Given the description of an element on the screen output the (x, y) to click on. 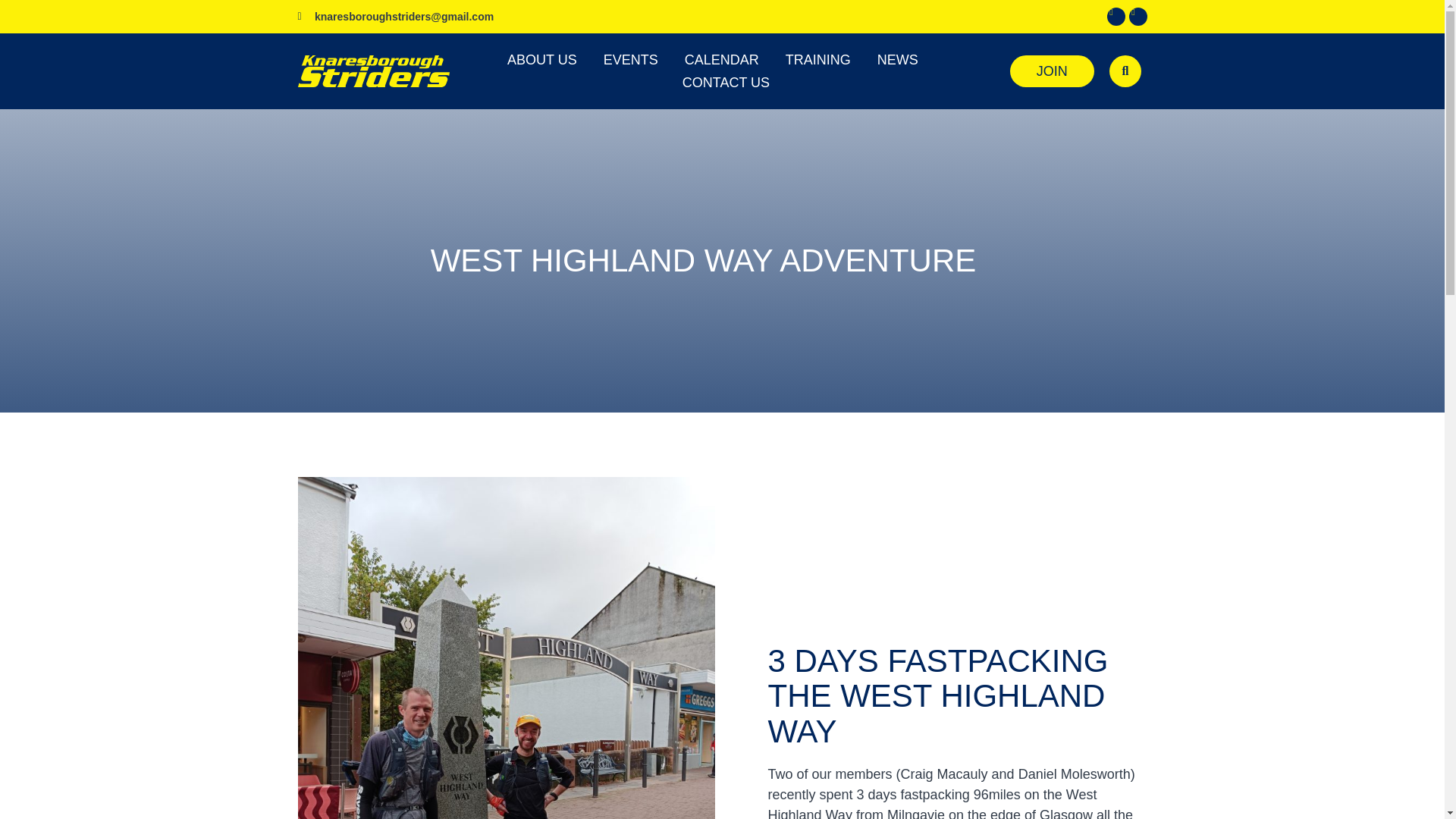
CALENDAR (721, 59)
NEWS (897, 59)
ABOUT US (541, 59)
EVENTS (631, 59)
CONTACT US (726, 82)
TRAINING (818, 59)
